Given the description of an element on the screen output the (x, y) to click on. 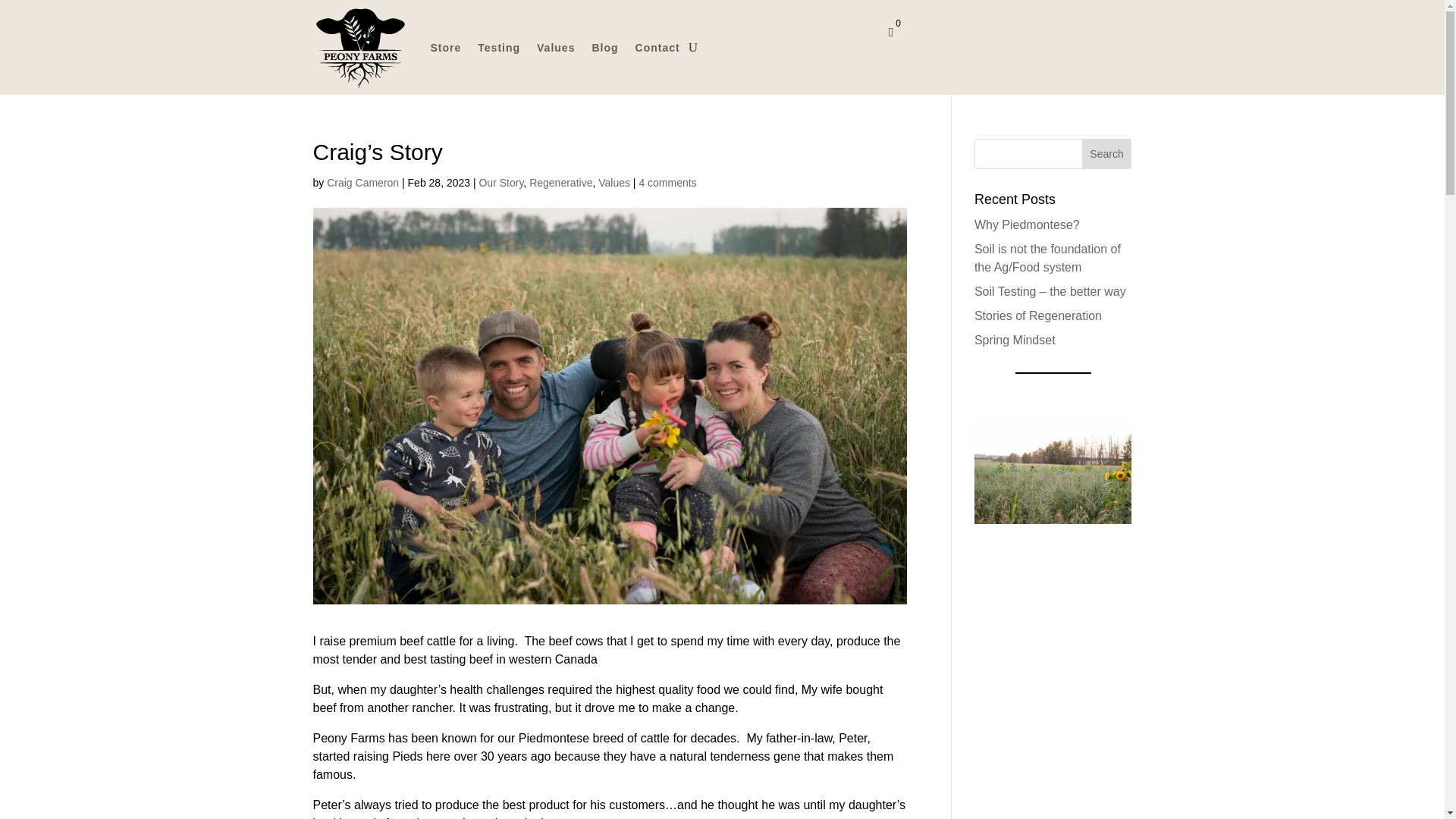
Search (1106, 153)
Search (1106, 153)
Values (556, 47)
Values (614, 182)
Posts by Craig Cameron (362, 182)
4 comments (667, 182)
Contact (656, 47)
Craig Cameron (362, 182)
Testing (498, 47)
Store (445, 47)
Blog (604, 47)
Spring Mindset (1014, 339)
Our Story (500, 182)
Regenerative (560, 182)
Why Piedmontese? (1027, 224)
